Given the description of an element on the screen output the (x, y) to click on. 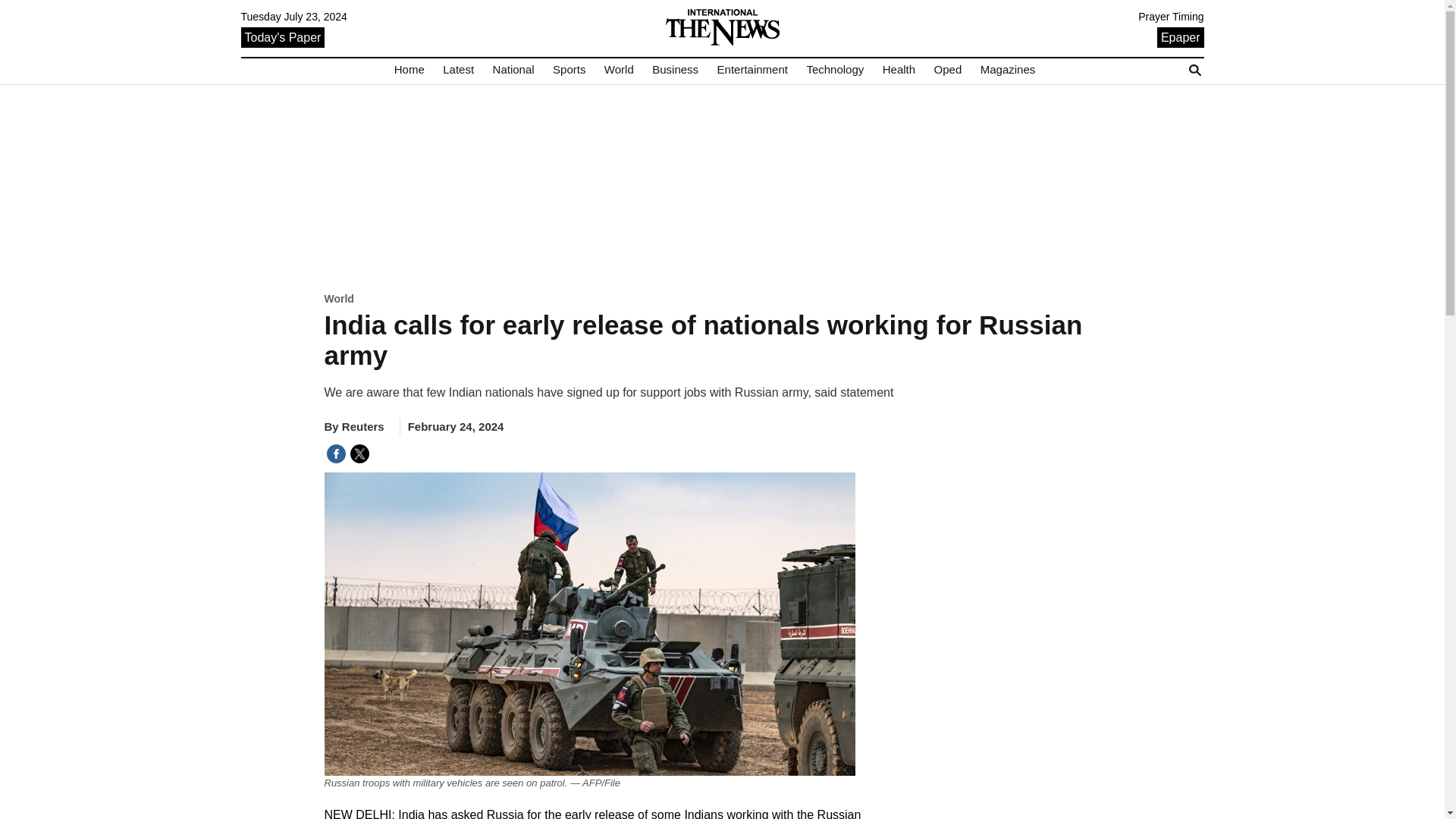
Health (899, 69)
Technology (833, 69)
Prayer Timing (1171, 16)
Latest (458, 69)
Epaper (1180, 37)
National (512, 69)
Business (675, 69)
Home (409, 69)
World (619, 69)
Entertainment (752, 69)
Sports (568, 69)
Today's Paper (282, 37)
3rd party ad content (721, 186)
